Given the description of an element on the screen output the (x, y) to click on. 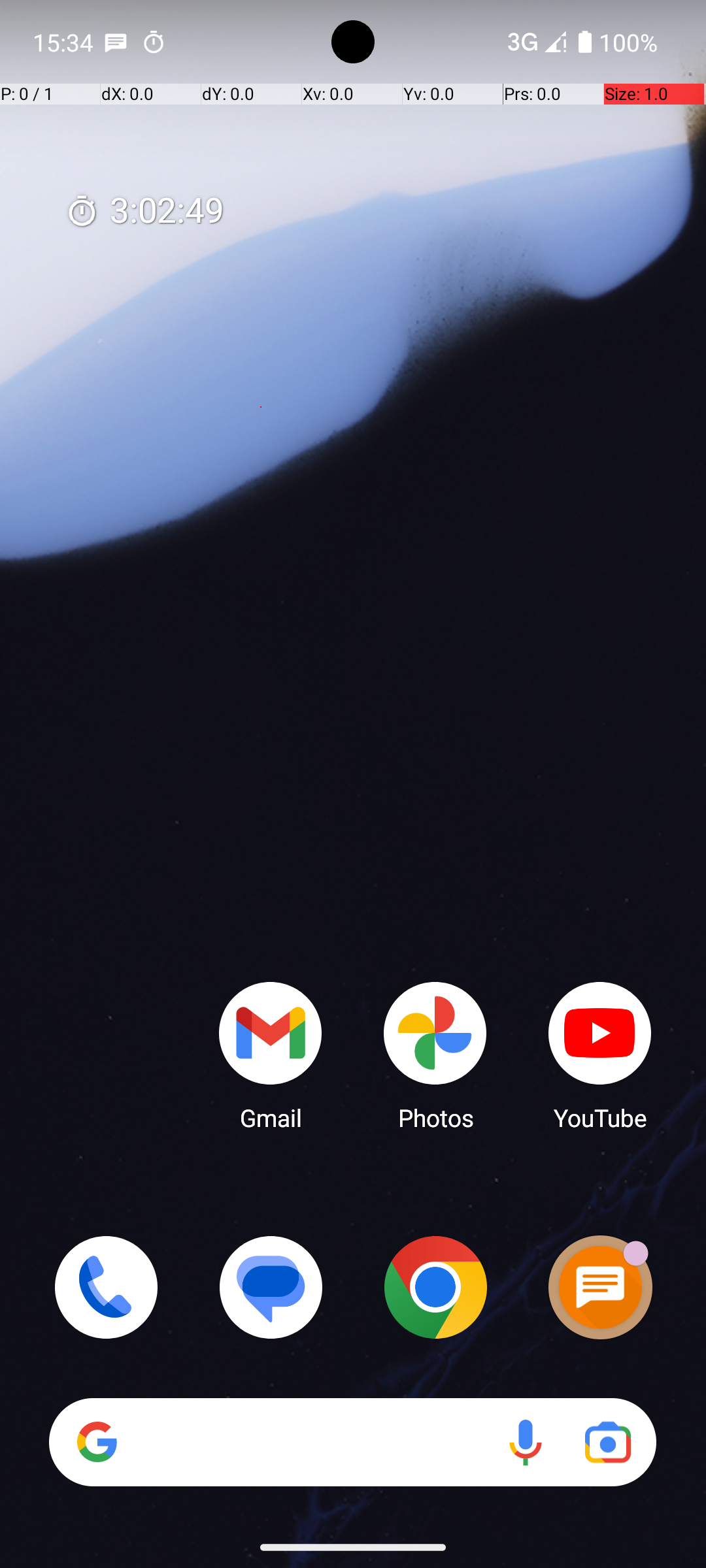
3:02:49 Element type: android.widget.TextView (144, 210)
